Given the description of an element on the screen output the (x, y) to click on. 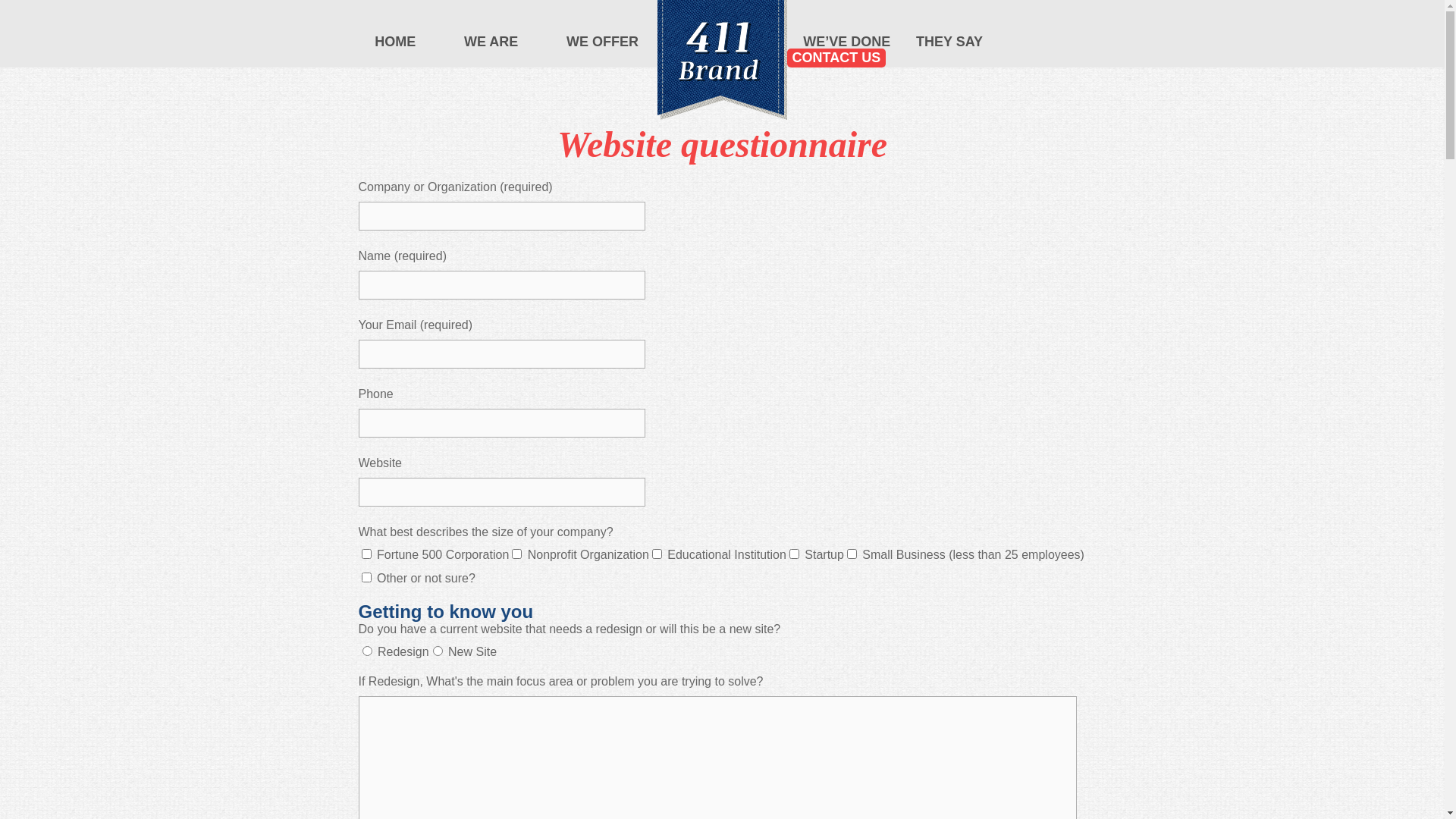
THEY SAY Element type: text (949, 42)
WE ARE Element type: text (490, 42)
HOME Element type: text (394, 42)
WE OFFER Element type: text (602, 42)
CONTACT US Element type: text (836, 57)
411 Brand Element type: hover (721, 115)
